Given the description of an element on the screen output the (x, y) to click on. 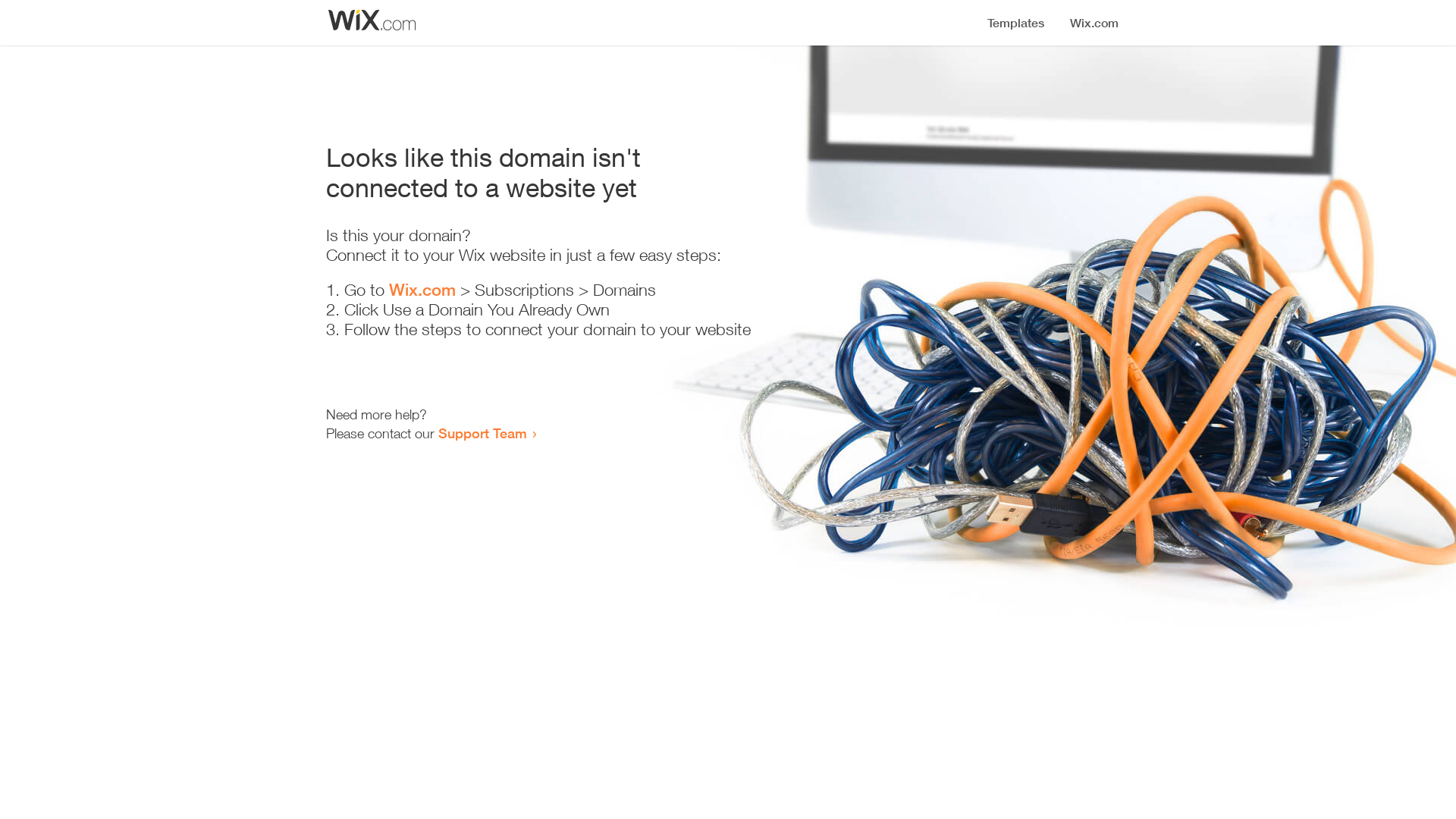
Support Team Element type: text (482, 432)
Wix.com Element type: text (422, 289)
